Given the description of an element on the screen output the (x, y) to click on. 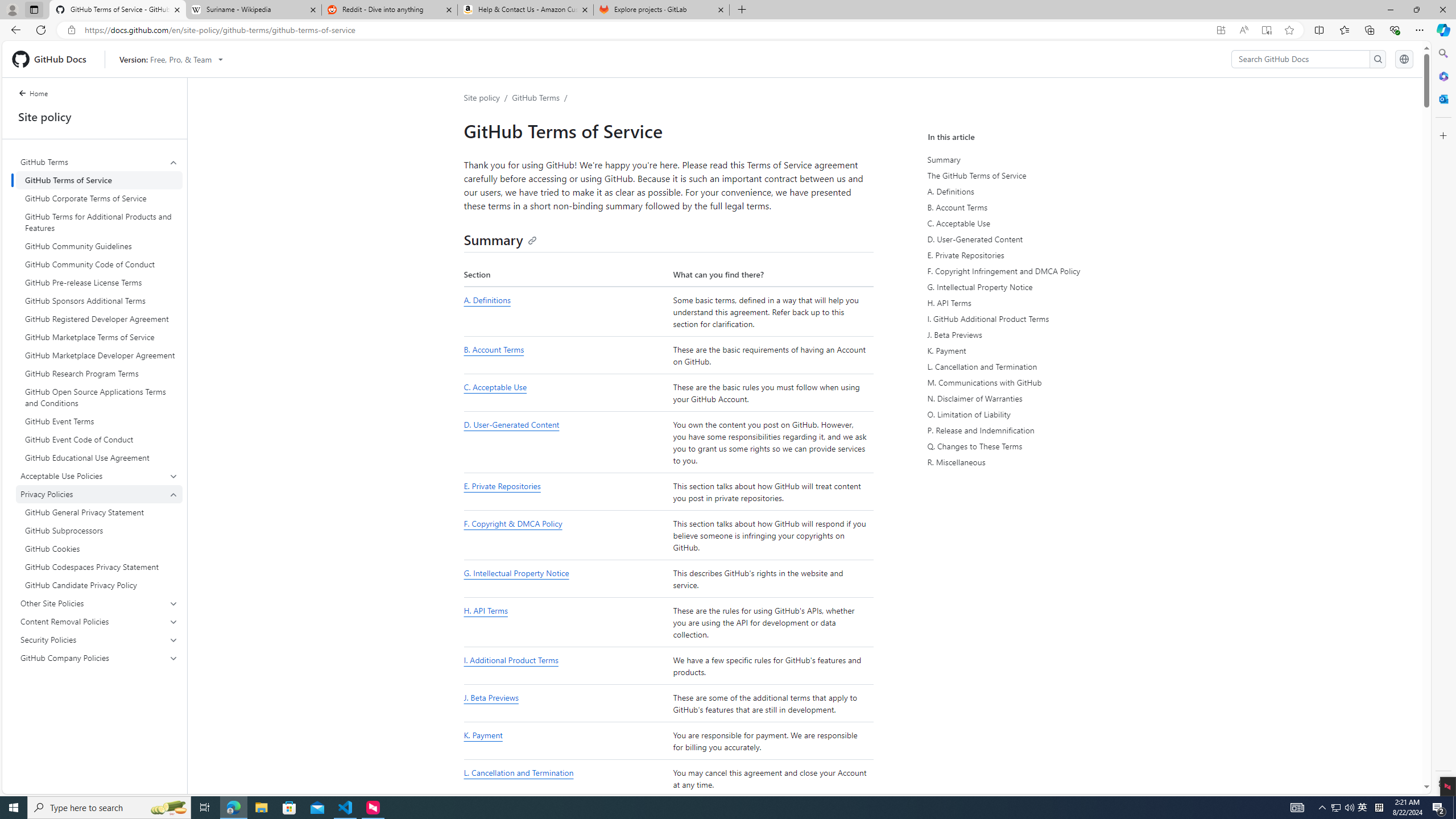
GitHub Subprocessors (99, 530)
GitHub Candidate Privacy Policy (99, 584)
GitHub Event Terms (99, 420)
Other Site Policies (99, 603)
GitHub Subprocessors (99, 530)
I. Additional Product Terms (511, 659)
Privacy Policies (99, 493)
The GitHub Terms of Service (1034, 175)
L. Cancellation and Termination (565, 778)
